Given the description of an element on the screen output the (x, y) to click on. 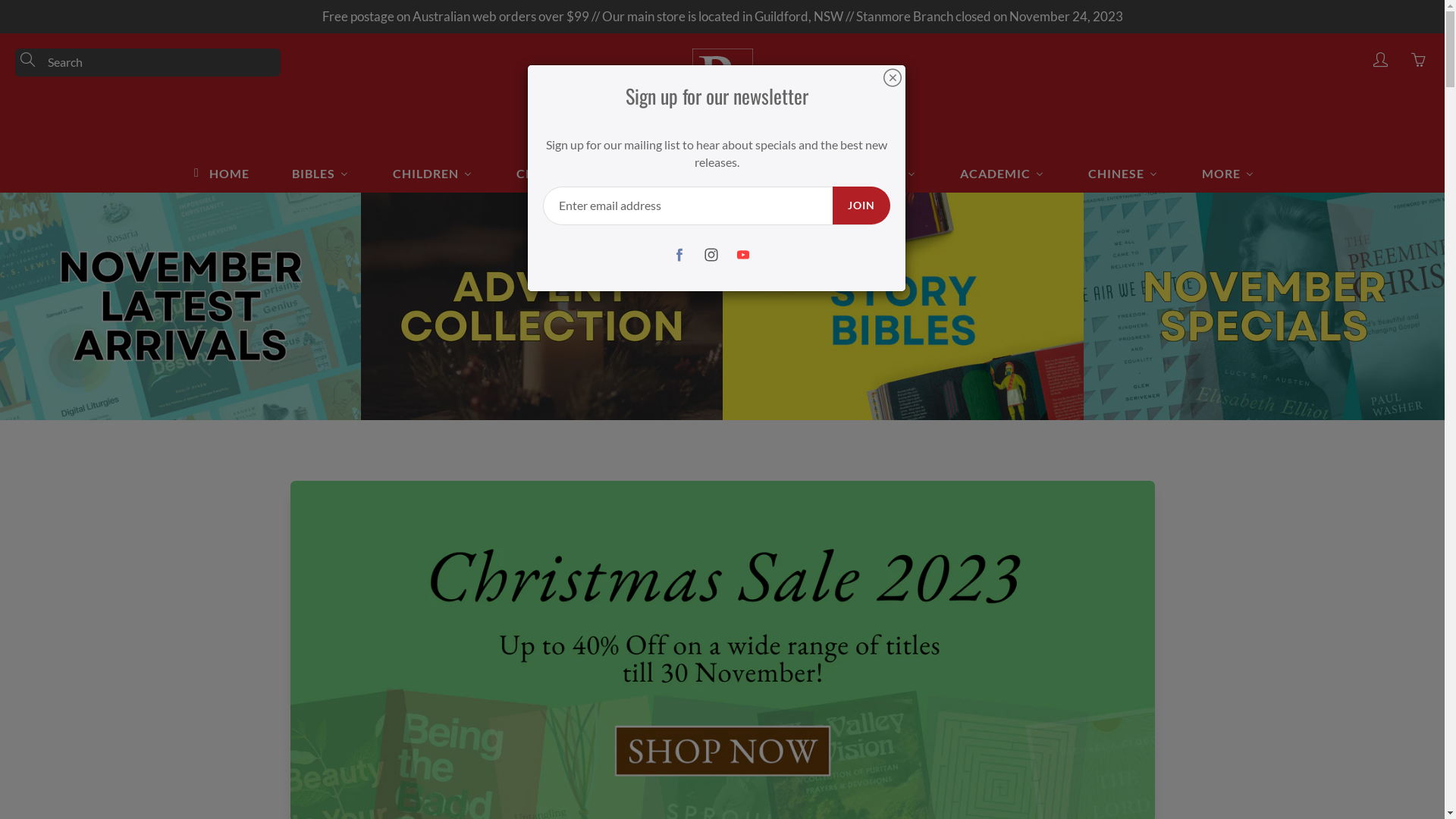
Instagram Element type: hover (710, 254)
Facebook Element type: hover (678, 254)
BIBLES Element type: text (319, 172)
COMMENTARIES Element type: text (856, 172)
ACADEMIC Element type: text (1002, 172)
MINISTRY Element type: text (713, 172)
MORE Element type: text (1227, 172)
CHINESE Element type: text (1122, 172)
Search Element type: text (28, 59)
HOME Element type: text (218, 172)
My account Element type: text (1379, 59)
You have 0 items in your cart Element type: text (1417, 59)
CHILDREN Element type: text (432, 172)
JOIN Element type: text (861, 205)
YouTube Element type: hover (742, 254)
CHRISTIAN LIFE Element type: text (573, 172)
